Given the description of an element on the screen output the (x, y) to click on. 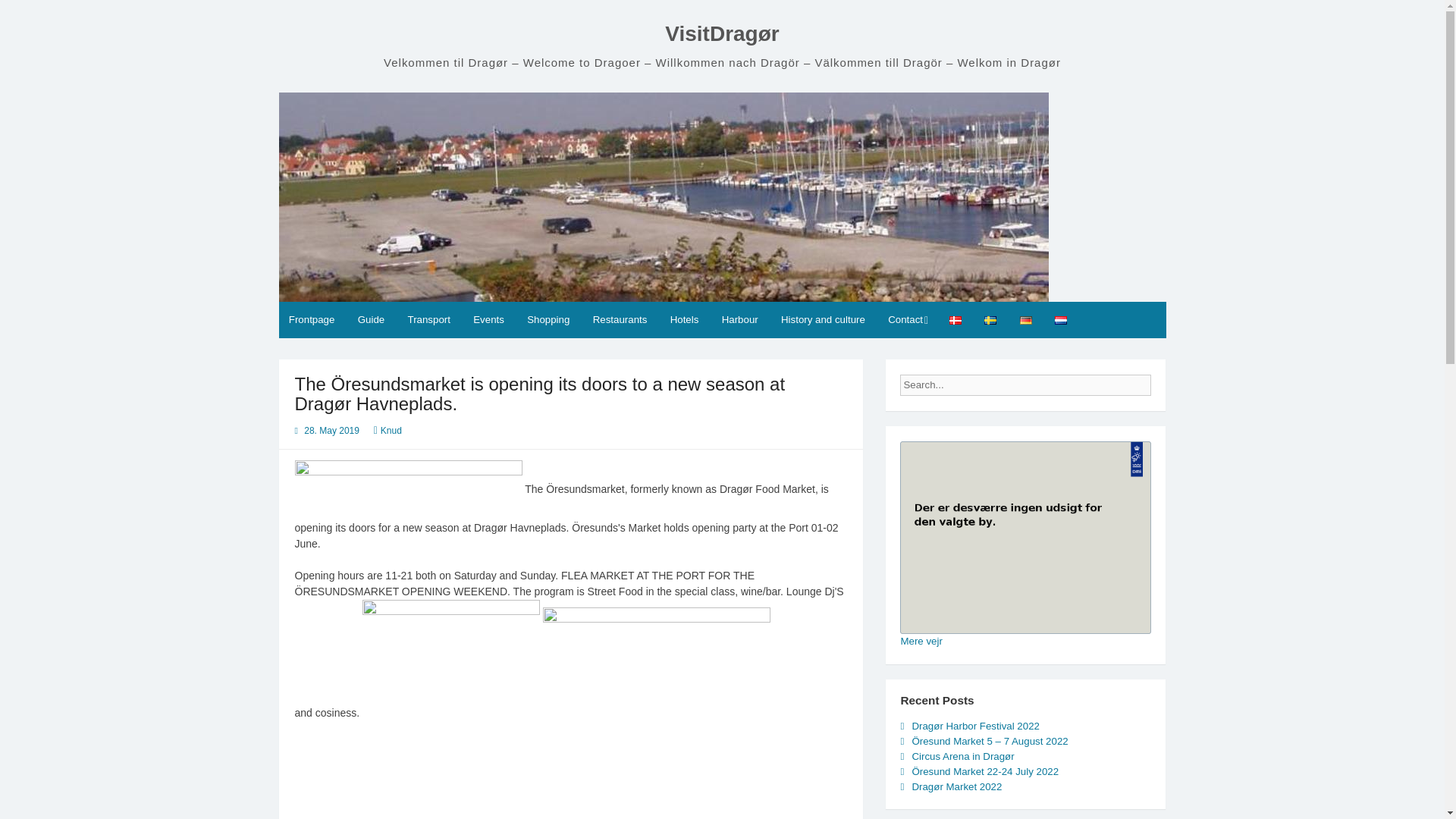
Guide (370, 320)
Harbour (739, 320)
Search (1163, 380)
Events (488, 320)
Restaurants (619, 320)
Transport (428, 320)
History and culture (823, 320)
Mere vejr (920, 641)
Contact (906, 320)
Shopping (547, 320)
Search (1163, 380)
28. May 2019 (331, 430)
Hotels (683, 320)
Search (1163, 380)
Frontpage (312, 320)
